Given the description of an element on the screen output the (x, y) to click on. 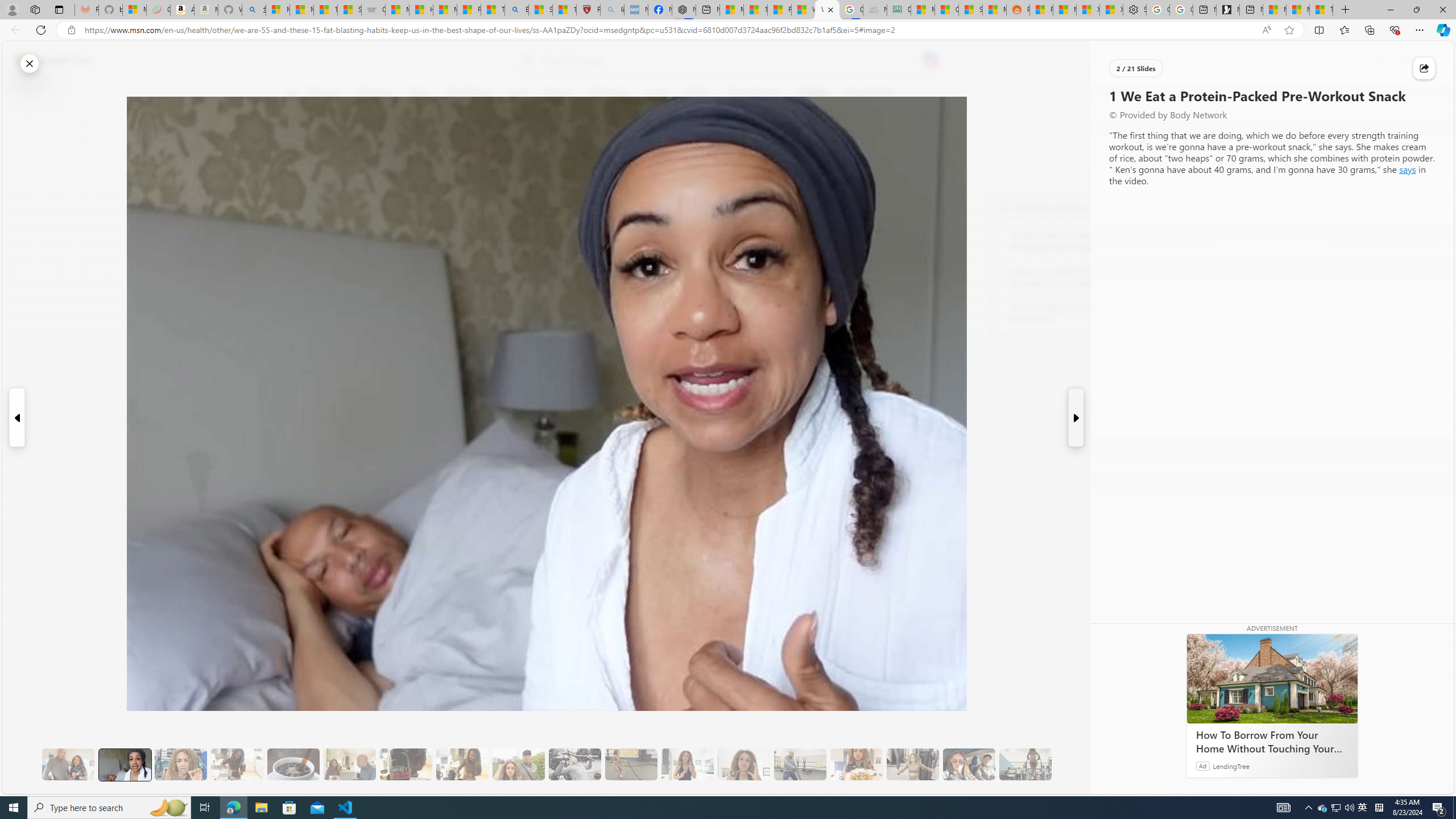
Local (517, 92)
Fitness - MSN (779, 9)
8 Be Mindful of Coffee (293, 764)
DITOGAMES AG Imprint (898, 9)
Recipes - MSN (469, 9)
